Given the description of an element on the screen output the (x, y) to click on. 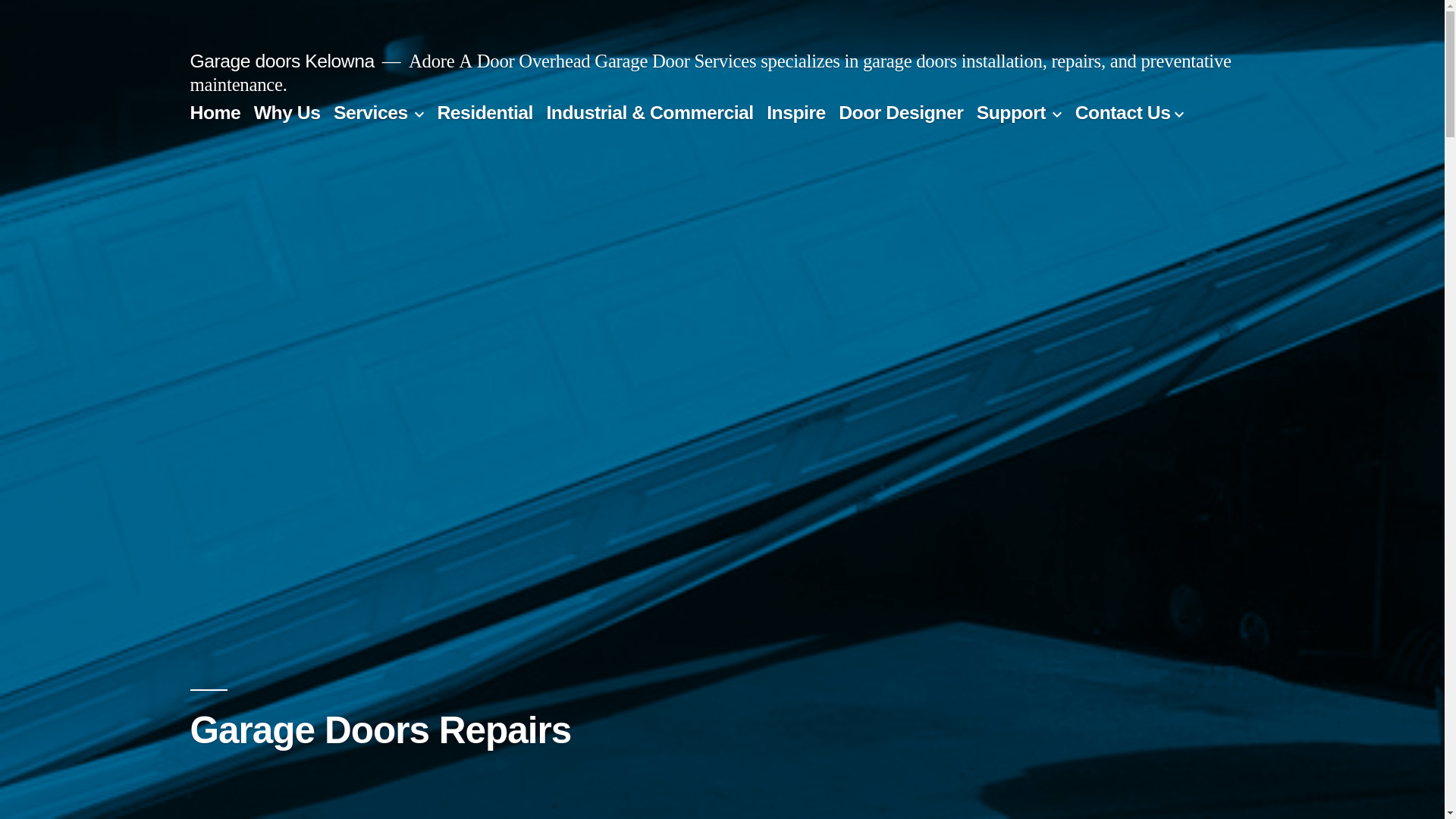
Residential Element type: text (484, 112)
Services Element type: text (370, 112)
Garage doors Kelowna Element type: text (281, 60)
Home Element type: text (214, 112)
Industrial & Commercial Element type: text (649, 112)
Support Element type: text (1010, 112)
Contact Us Element type: text (1122, 112)
Inspire Element type: text (795, 112)
Why Us Element type: text (287, 112)
Door Designer Element type: text (900, 112)
